Given the description of an element on the screen output the (x, y) to click on. 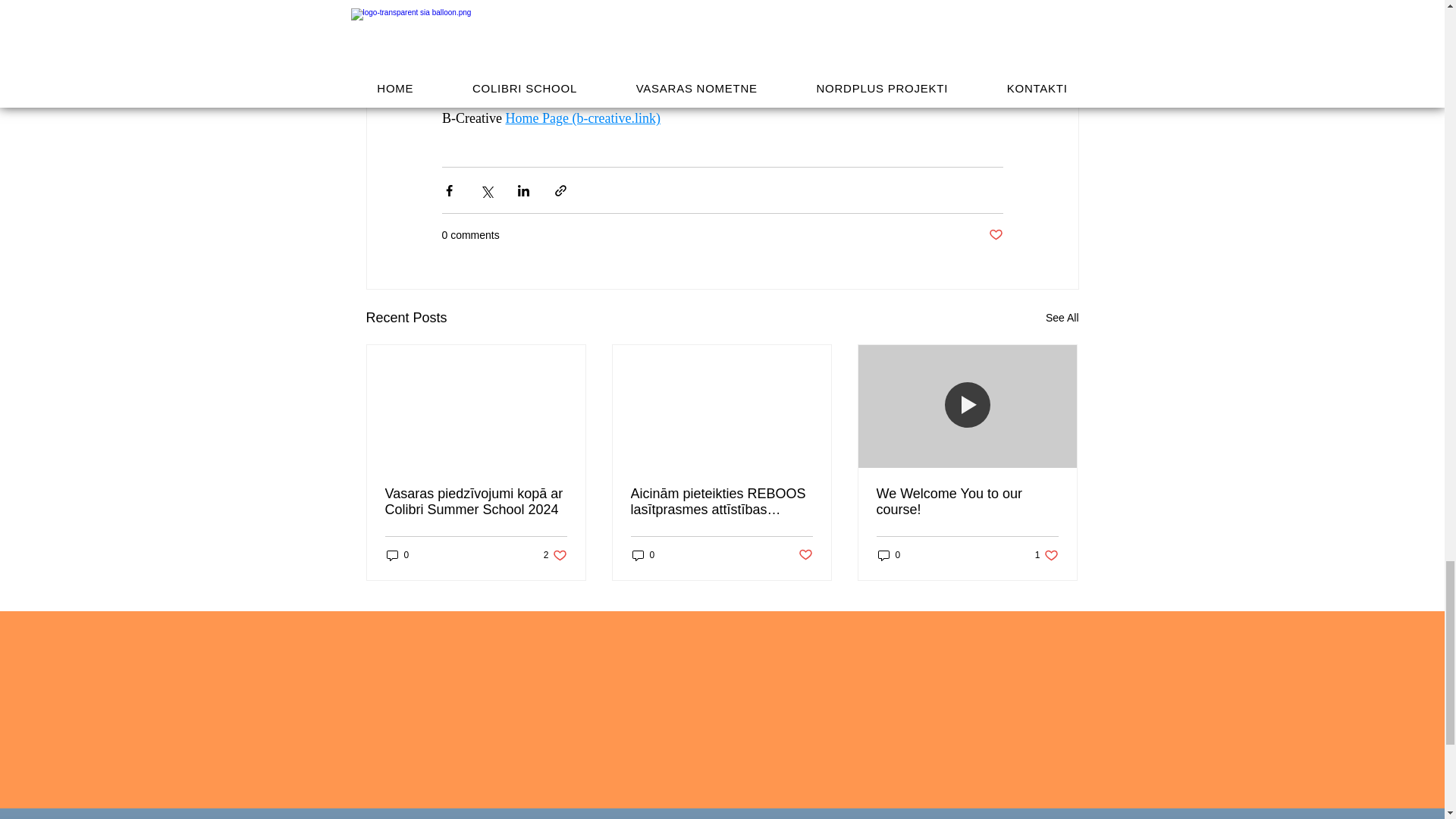
Back (721, 85)
0 (397, 554)
Post not marked as liked (804, 555)
We Welcome You to our course! (967, 501)
0 (889, 554)
See All (555, 554)
Post not marked as liked (1061, 318)
0 (995, 235)
